Given the description of an element on the screen output the (x, y) to click on. 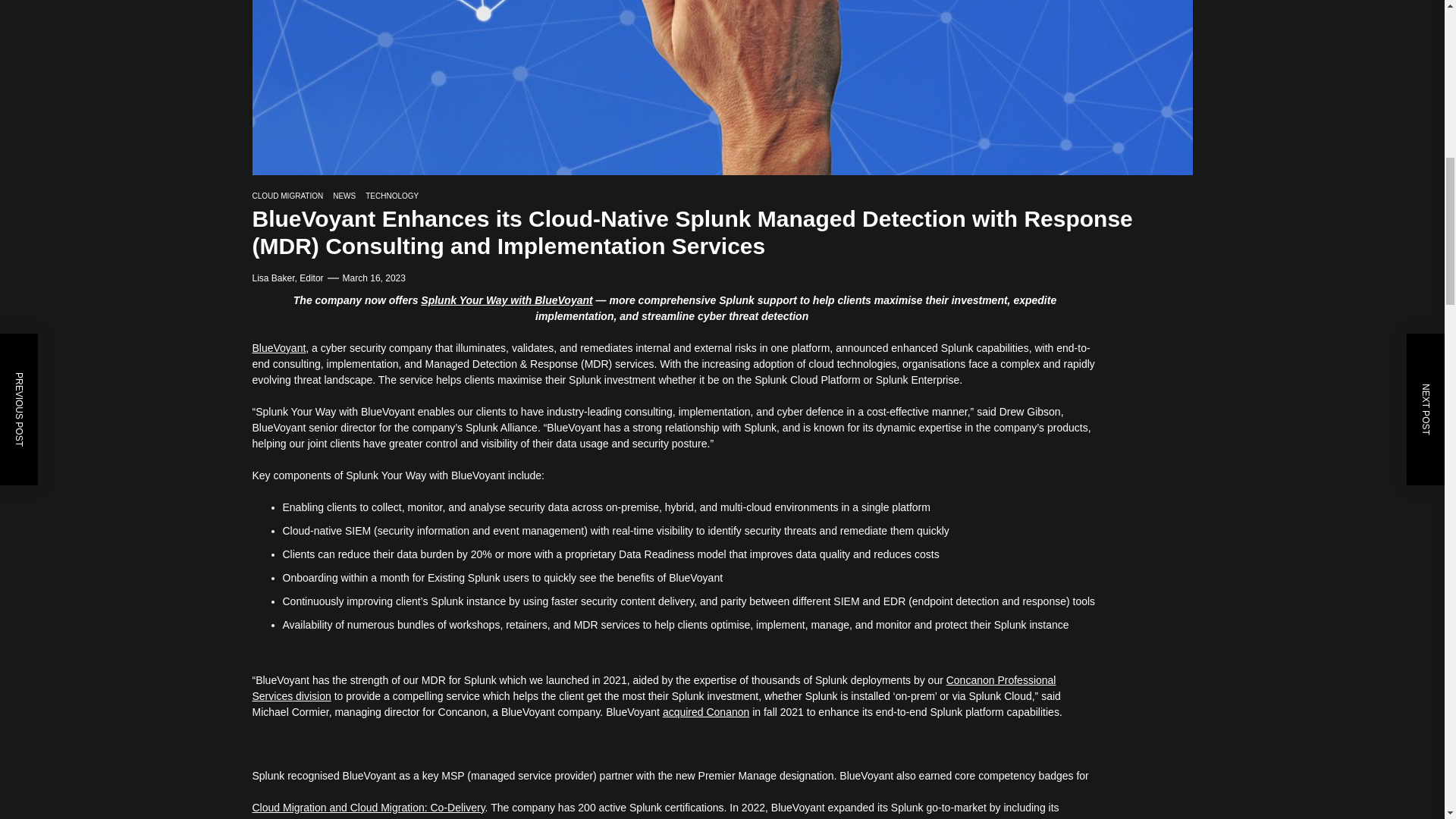
CLOUD MIGRATION (287, 195)
